Given the description of an element on the screen output the (x, y) to click on. 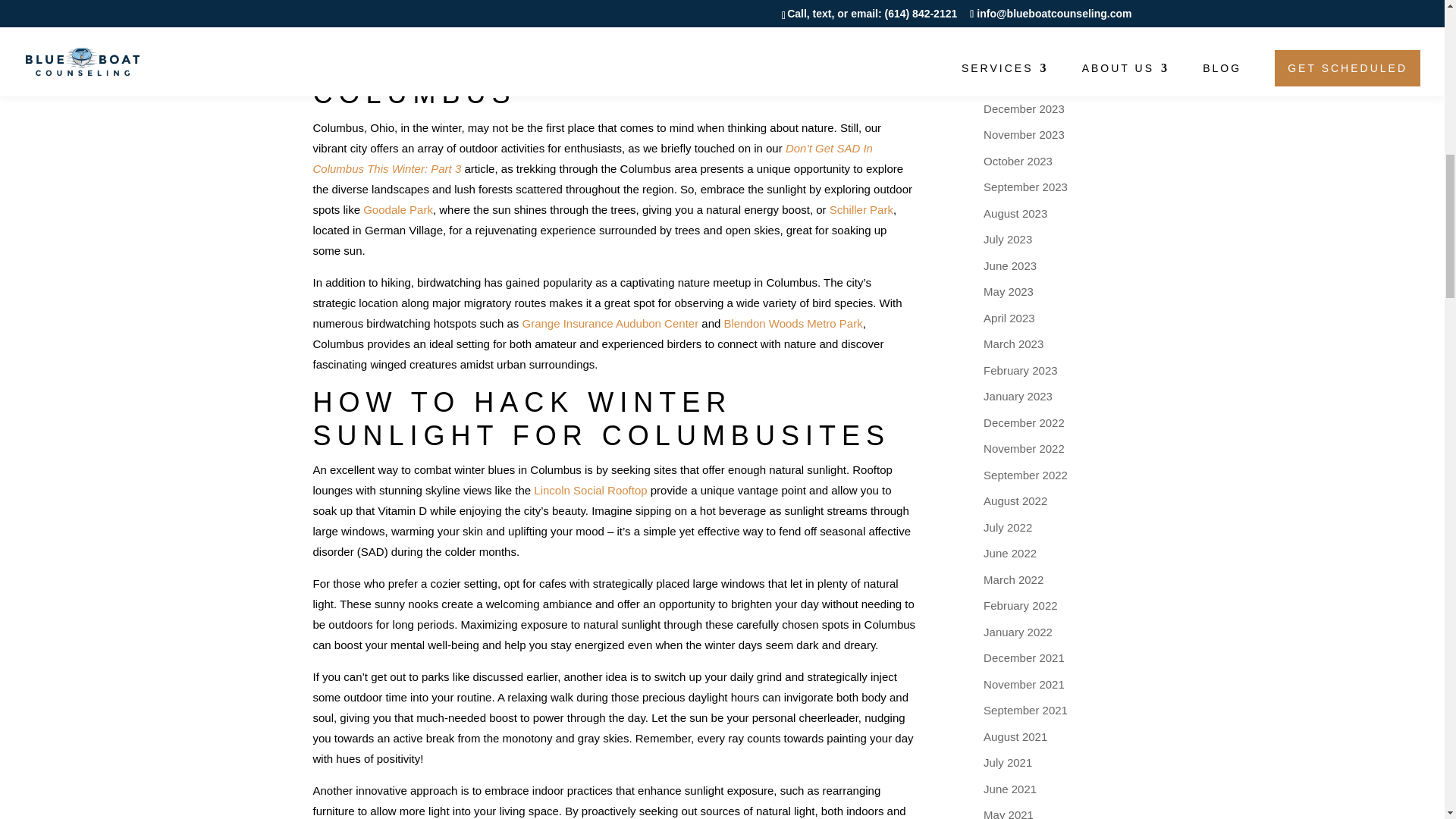
Schiller Park (861, 209)
Goodale Park (397, 209)
Blendon Woods Metro Park (793, 323)
Grange Insurance Audubon Center (609, 323)
Lincoln Social Rooftop (590, 490)
